Given the description of an element on the screen output the (x, y) to click on. 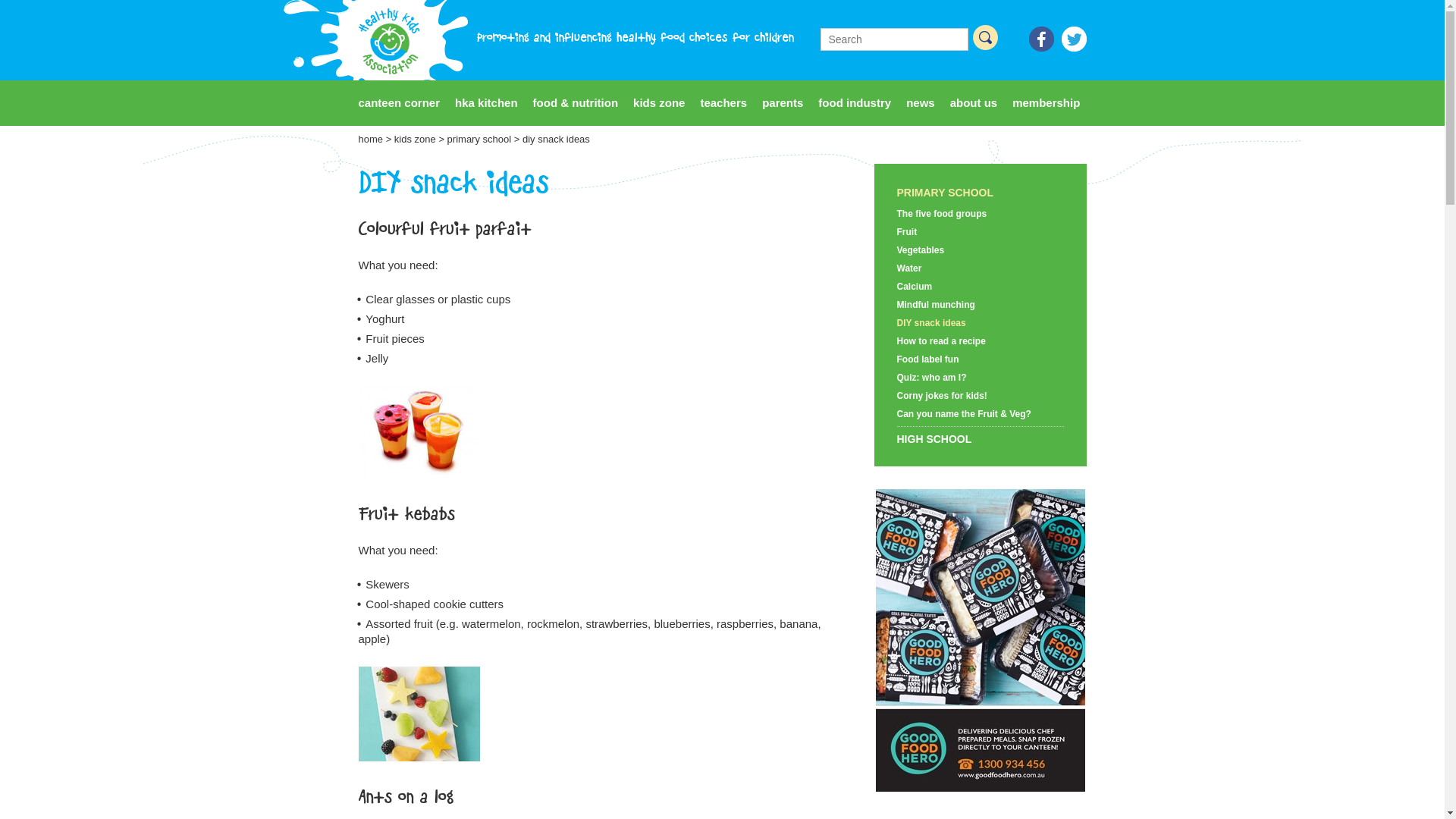
primary school Element type: text (479, 138)
 March  Element type: hover (979, 640)
teachers Element type: text (722, 102)
news Element type: text (920, 102)
DIY snack ideas Element type: text (979, 322)
Water Element type: text (979, 268)
The five food groups Element type: text (979, 213)
Quiz: who am I? Element type: text (979, 377)
home Element type: text (369, 138)
How to read a recipe Element type: text (979, 341)
Fruit Element type: text (979, 231)
parents Element type: text (782, 102)
HIGH SCHOOL Element type: text (979, 438)
Food label fun Element type: text (979, 359)
Can you name the Fruit & Veg? Element type: text (979, 413)
Calcium Element type: text (979, 286)
about us Element type: text (973, 102)
Corny jokes for kids! Element type: text (979, 395)
food industry Element type: text (854, 102)
Vegetables Element type: text (979, 250)
Mindful munching Element type: text (979, 304)
Like Us Element type: hover (1040, 39)
PRIMARY SCHOOL Element type: text (979, 192)
Follow Us Element type: hover (1073, 39)
kids zone Element type: text (415, 138)
kids zone Element type: text (658, 102)
canteen corner Element type: text (398, 102)
food & nutrition Element type: text (575, 102)
hka kitchen Element type: text (486, 102)
membership Element type: text (1045, 102)
